Given the description of an element on the screen output the (x, y) to click on. 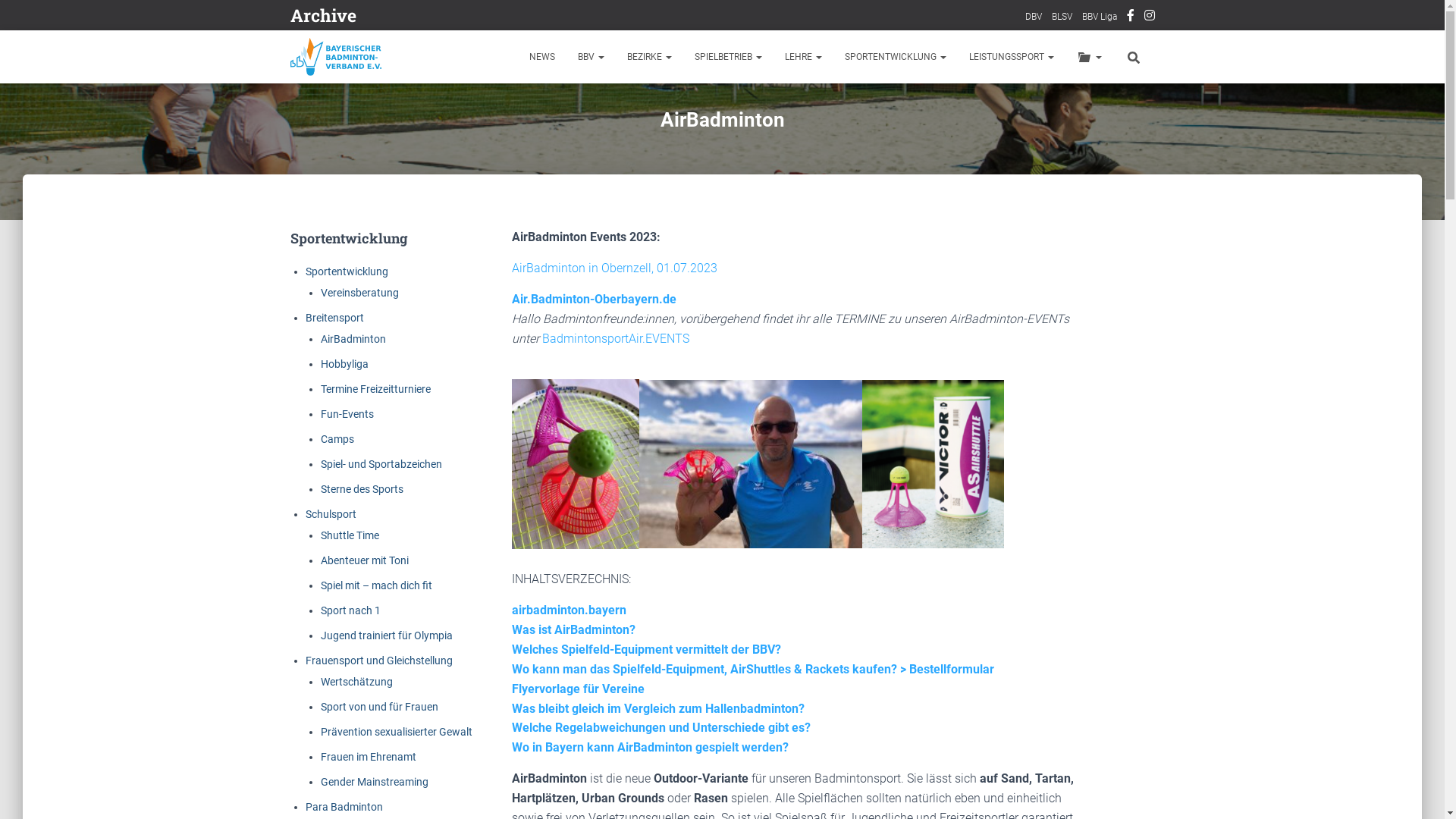
September 2010 Element type: text (483, 776)
Juli 2011 Element type: text (683, 716)
Schulsport Element type: text (329, 514)
Termine Freizeitturniere Element type: text (374, 388)
Para Badminton Element type: text (343, 806)
Juli 2013 Element type: text (608, 655)
April 2018 Element type: text (377, 382)
Juni 2021 Element type: text (659, 170)
Dezember 2011 Element type: text (341, 716)
Sterne des Sports Element type: text (361, 489)
Januar 2022 Element type: text (551, 139)
Januar 2010 Element type: text (551, 807)
November 2022 Element type: text (342, 109)
Januar 2011 Element type: text (603, 746)
April 2015 Element type: text (377, 564)
Januar 2023 Element type: text (551, 79)
September 2018 Element type: text (483, 352)
Februar 2016 Element type: text (489, 503)
Januar 2016 Element type: text (551, 503)
Welche Regelabweichungen und Unterschiede gibt es? Element type: text (660, 727)
November 2010 Element type: text (342, 776)
Dezember 2014 Element type: text (620, 564)
Juni 2015 Element type: text (659, 534)
Februar 2010 Element type: text (489, 807)
November 2011 Element type: text (416, 716)
Oktober 2018 Element type: text (412, 352)
Oktober 2021 Element type: text (412, 170)
Abenteuer mit Toni Element type: text (363, 560)
BBV Element type: text (590, 56)
Vereinsberatung Element type: text (359, 292)
April 2022 Element type: text (377, 139)
September 2019 Element type: text (483, 291)
Frauensport und Gleichstellung Element type: text (377, 660)
Shuttle Time Element type: text (349, 535)
Mai 2014 Element type: text (328, 625)
Dezember 2021 Element type: text (620, 139)
November 2020 Element type: text (342, 230)
August 2017 Element type: text (553, 412)
September 2023 Element type: text (479, 48)
Februar 2018 Element type: text (489, 382)
November 2015 Element type: text (342, 534)
Januar 2020 Element type: text (551, 261)
Oktober 2011 Element type: text (486, 716)
AirBadminton Element type: text (352, 338)
September 2022 Element type: text (483, 109)
Oktober 2010 Element type: text (412, 776)
August 2010 Element type: text (553, 776)
Oktober 2023 Element type: text (408, 48)
Dezember 2019 Element type: text (620, 261)
Februar 2015 Element type: text (489, 564)
Februar 2017 Element type: text (489, 443)
Wo in Bayern kann AirBadminton gespielt werden? Element type: text (649, 747)
BLSV Element type: text (1061, 16)
Februar 2022 Element type: text (489, 139)
BEZIRKE Element type: text (649, 56)
Februar 2021 Element type: text (489, 200)
Juli 2015 Element type: text (608, 534)
BadmintonsportAir.EVENTS Element type: text (615, 337)
Gender Mainstreaming Element type: text (373, 781)
Juni 2020 Element type: text (659, 230)
November 2013 Element type: text (342, 655)
Juni 2019 Element type: text (659, 291)
Mai 2023 Element type: text (328, 79)
Dezember 2018 Element type: text (620, 321)
April 2011 Element type: text (428, 746)
Januar 2012 Element type: text (614, 685)
Oktober 2017 Element type: text (412, 412)
DBV Element type: text (1033, 16)
Dezember 2009 Element type: text (620, 807)
Juli 2016 Element type: text (608, 473)
Oktober 2014 Element type: text (412, 594)
Mai 2013 Element type: text (328, 685)
BBV Liga Element type: text (1098, 16)
August 2020 Element type: text (553, 230)
Januar 2015 Element type: text (551, 564)
Juni 2017 Element type: text (659, 412)
SPORTENTWICKLUNG Element type: text (894, 56)
Januar 2014 Element type: text (551, 625)
August 2023 Element type: text (549, 48)
November 2019 Element type: text (342, 291)
Dezember 2010 Element type: text (672, 746)
Oktober 2016 Element type: text (412, 473)
Juni 2011 Element type: text (330, 746)
SPIELBETRIEB Element type: text (727, 56)
April 2016 Element type: text (377, 503)
Oktober 2015 Element type: text (412, 534)
Mai 2018 Element type: text (328, 382)
Juni 2016 Element type: text (659, 473)
Juli 2023 Element type: text (605, 48)
September 2014 Element type: text (483, 594)
November 2016 Element type: text (342, 473)
April 2017 Element type: text (377, 443)
Juli 2010 Element type: text (608, 776)
Was ist AirBadminton? Element type: text (573, 629)
Mai 2020 Element type: text (328, 261)
Facebook Element type: text (1130, 17)
September 2021 Element type: text (483, 170)
Februar 2014 Element type: text (489, 625)
April 2023 Element type: text (377, 79)
Juli 2018 Element type: text (608, 352)
Januar 2013 Element type: text (551, 685)
September 2015 Element type: text (483, 534)
Frauen im Ehrenamt Element type: text (367, 756)
Mai 2016 Element type: text (328, 503)
Sportentwicklung Element type: text (345, 271)
November 2017 Element type: text (342, 412)
April 2014 Element type: text (377, 625)
Februar 2013 Element type: text (489, 685)
Dezember 2022 Element type: text (620, 79)
Mai 2021 Element type: text (328, 200)
September 2017 Element type: text (483, 412)
Dezember 2015 Element type: text (620, 503)
Oktober 2019 Element type: text (412, 291)
LEHRE Element type: text (803, 56)
Oktober 2022 Element type: text (412, 109)
November 2021 Element type: text (342, 170)
August 2013 Element type: text (553, 655)
Dezember 2017 Element type: text (620, 382)
Dezember 2016 Element type: text (620, 443)
Juli 2019 Element type: text (608, 291)
Air.Badminton-Oberbayern.de Element type: text (593, 298)
Breitensport Element type: text (333, 317)
Februar 2020 Element type: text (489, 261)
Januar 2021 Element type: text (551, 200)
November 2023 Element type: text (337, 48)
Welches Spielfeld-Equipment vermittelt der BBV? Element type: text (646, 649)
Oktober 2013 Element type: text (412, 655)
April 2010 Element type: text (377, 807)
Hobbyliga Element type: text (343, 363)
Dezember 2013 Element type: text (620, 625)
Fun-Events Element type: text (346, 413)
Juni 2022 Element type: text (659, 109)
Juli 2017 Element type: text (608, 412)
Mai 2017 Element type: text (328, 443)
August 2014 Element type: text (553, 594)
Juni 2014 Element type: text (659, 594)
August 2016 Element type: text (553, 473)
Januar 2017 Element type: text (551, 443)
Juni 2010 Element type: text (659, 776)
Mai 2010 Element type: text (328, 807)
Sport nach 1 Element type: text (349, 610)
AirBadminton in Obernzell, 01.07.2023 Element type: text (614, 267)
August 2018 Element type: text (553, 352)
LEISTUNGSSPORT Element type: text (1010, 56)
Mai 2015 Element type: text (328, 564)
Juli 2014 Element type: text (608, 594)
November 2018 Element type: text (342, 352)
Januar 2019 Element type: text (551, 321)
Was bleibt gleich im Vergleich zum Hallenbadminton? Element type: text (657, 707)
August 2021 Element type: text (553, 170)
Oktober 2020 Element type: text (412, 230)
April 2021 Element type: text (377, 200)
Mai 2022 Element type: text (328, 139)
Januar 2018 Element type: text (551, 382)
Februar 2019 Element type: text (489, 321)
August 2011 Element type: text (628, 716)
April 2020 Element type: text (377, 261)
August 2019 Element type: text (553, 291)
Instagram Element type: text (1148, 17)
Camps Element type: text (336, 439)
Mai 2011 Element type: text (379, 746)
September 2020 Element type: text (483, 230)
August 2015 Element type: text (553, 534)
September 2016 Element type: text (483, 473)
Juli 2020 Element type: text (608, 230)
airbadminton.bayern Element type: text (568, 609)
Februar 2023 Element type: text (489, 79)
Juni 2013 Element type: text (659, 655)
Spiel- und Sportabzeichen Element type: text (380, 464)
Suche Element type: text (3, 16)
Mai 2019 Element type: text (328, 321)
September 2013 Element type: text (483, 655)
NEWS Element type: text (541, 56)
Dezember 2020 Element type: text (620, 200)
Juli 2021 Element type: text (608, 170)
August 2022 Element type: text (553, 109)
Juli 2022 Element type: text (608, 109)
April 2019 Element type: text (377, 321)
April 2013 Element type: text (377, 685)
Februar 2011 Element type: text (541, 746)
Juni 2023 Element type: text (656, 48)
September 2011 Element type: text (558, 716)
Juni 2018 Element type: text (659, 352)
November 2014 Element type: text (342, 594)
